Given the description of an element on the screen output the (x, y) to click on. 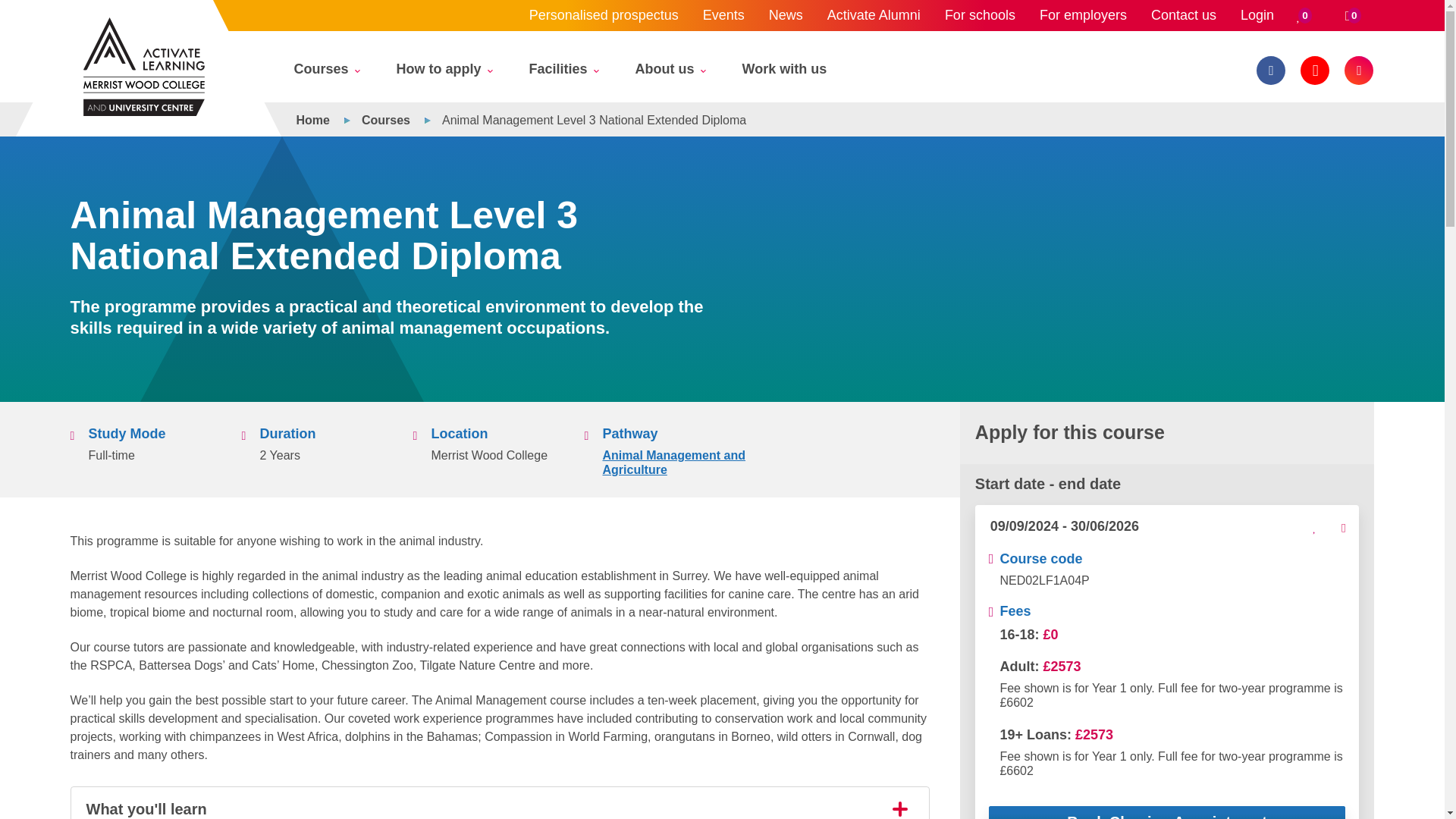
Events (723, 15)
News (785, 15)
Merrist Wood College (143, 66)
0 (1303, 15)
Activate Alumni (873, 15)
Login (1257, 15)
For schools (980, 15)
0 (1353, 15)
How to apply (443, 72)
Courses (325, 72)
